Given the description of an element on the screen output the (x, y) to click on. 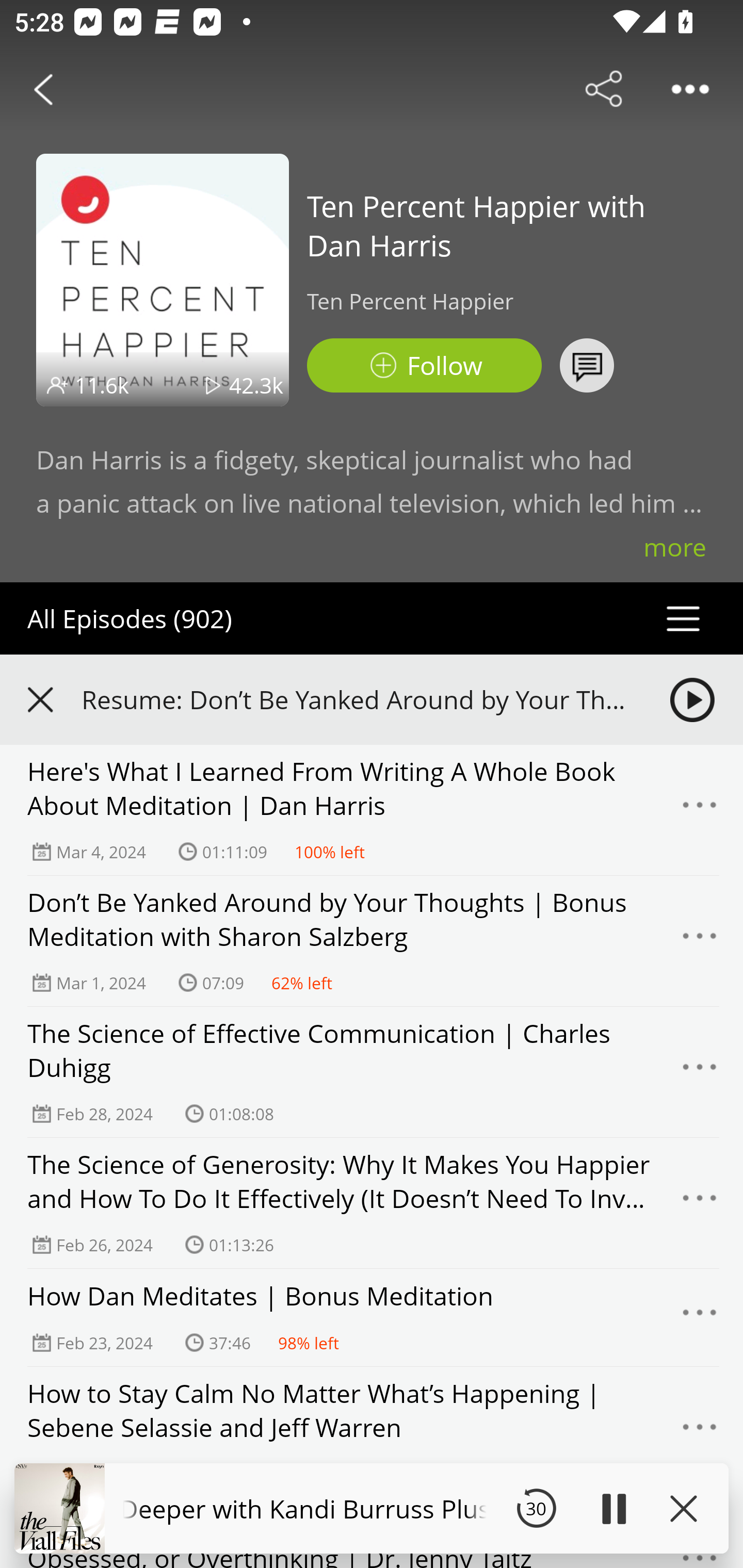
Back (43, 88)
Podbean Follow (423, 365)
11.6k (102, 384)
more (674, 546)
Menu (699, 809)
Menu (699, 941)
Menu (699, 1072)
Menu (699, 1203)
Menu (699, 1317)
Menu (699, 1432)
Play (613, 1507)
30 Seek Backward (536, 1508)
